Given the description of an element on the screen output the (x, y) to click on. 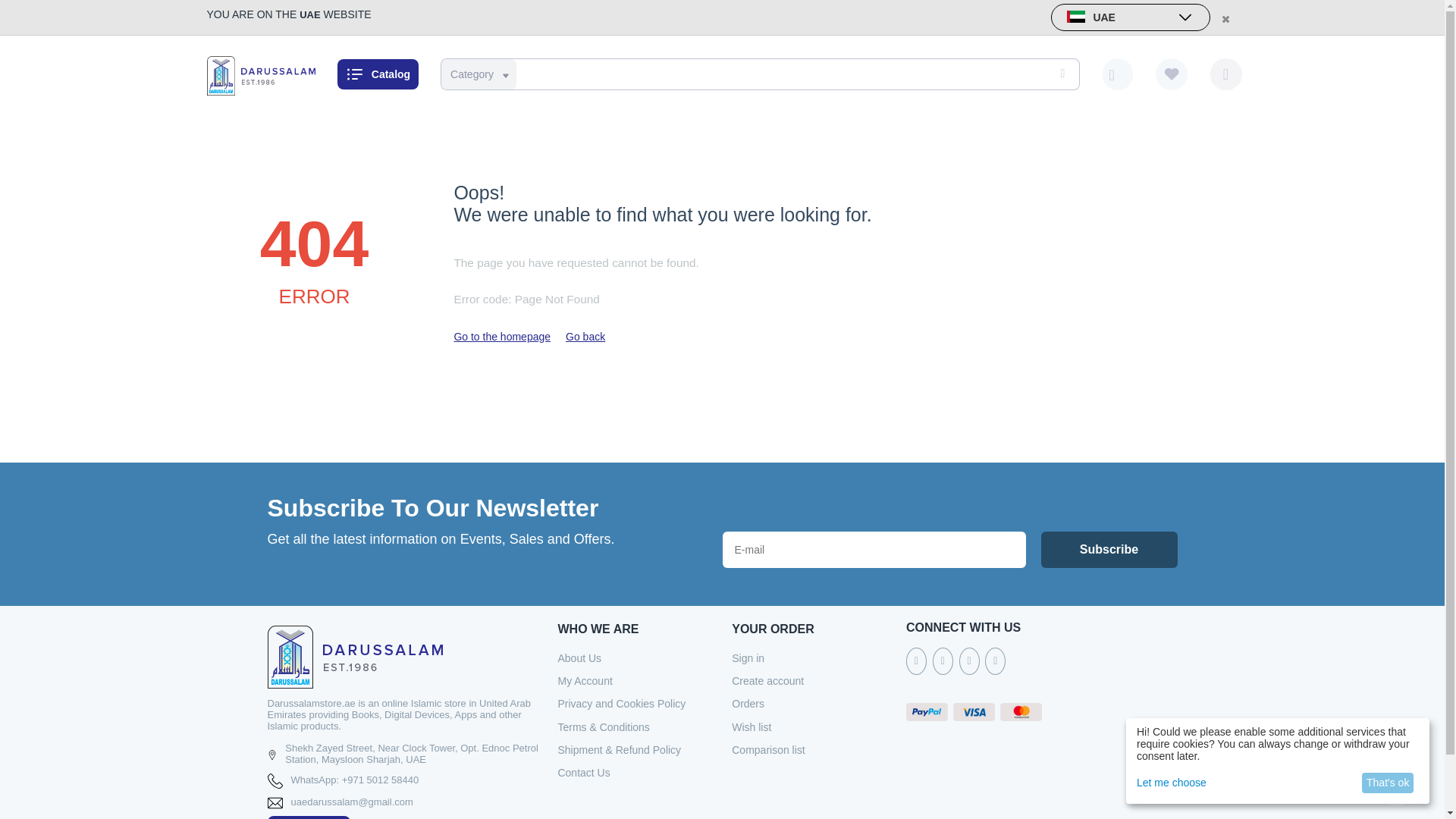
Search products (757, 74)
Close (1224, 18)
Search (1060, 74)
Darussalam Publishers (260, 73)
UAE (1130, 17)
Close (1224, 18)
